Given the description of an element on the screen output the (x, y) to click on. 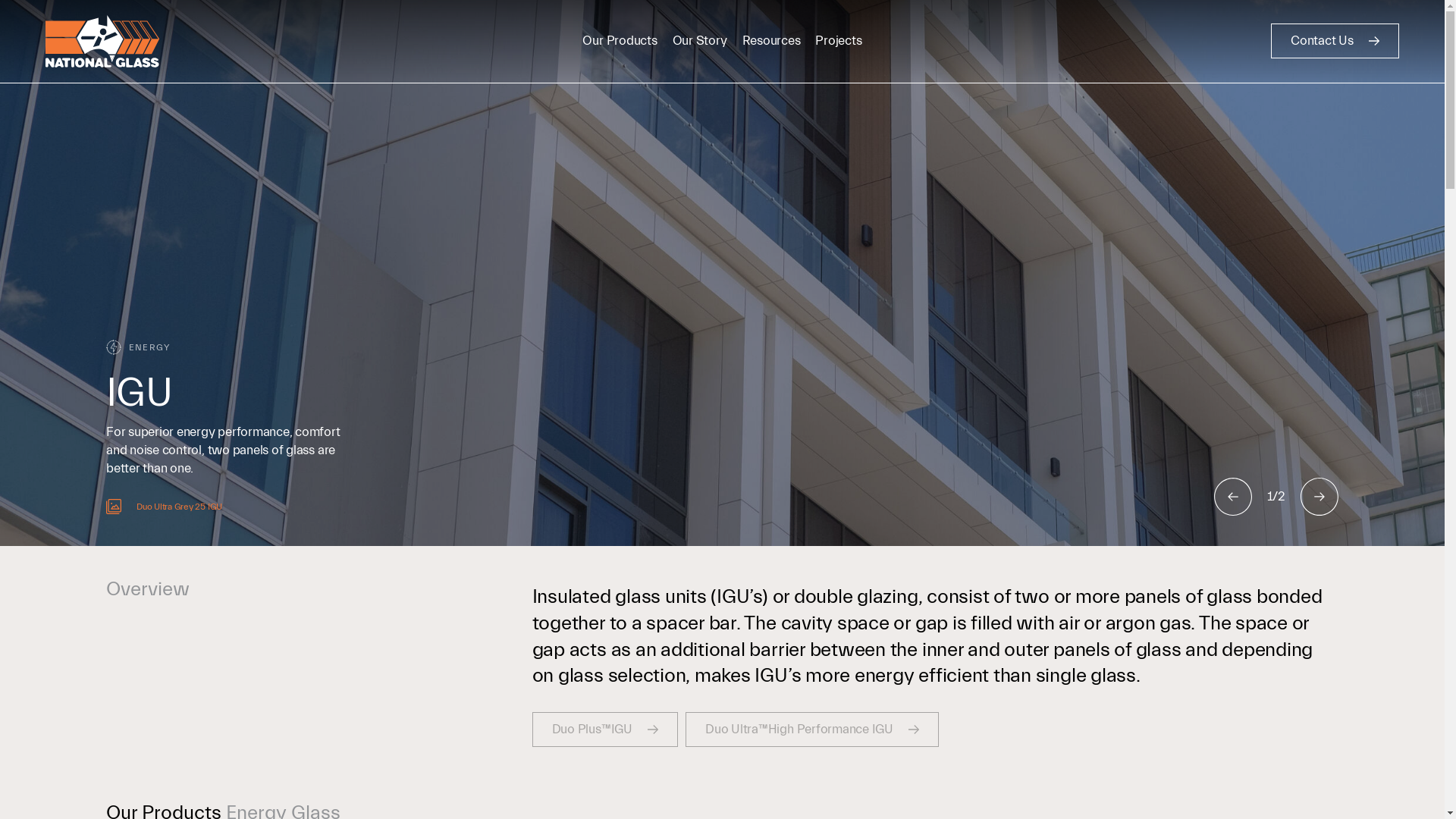
Ph: 07 3131 3555 Element type: text (405, 631)
Prev Element type: hover (1233, 496)
Ph: 07 3131 3555 Element type: text (154, 649)
Our Products Element type: text (619, 40)
Ph: 07 4924 1650 Element type: text (911, 631)
Contact Us Element type: text (1334, 40)
Projects Element type: text (838, 40)
Contact Element type: text (154, 464)
Email Element type: text (372, 649)
Resources Element type: text (771, 40)
Our Products Element type: text (184, 310)
Email Element type: text (120, 667)
Email Element type: text (877, 649)
ENERGY Element type: text (722, 347)
Our Story Element type: text (699, 40)
Email Element type: text (625, 667)
Resources Element type: text (169, 387)
Projects Element type: text (154, 425)
Our Story Element type: text (163, 349)
Spicy Web Element type: text (414, 770)
Next Element type: hover (1319, 496)
Ph: 07 4755 3100 Element type: text (659, 649)
